Given the description of an element on the screen output the (x, y) to click on. 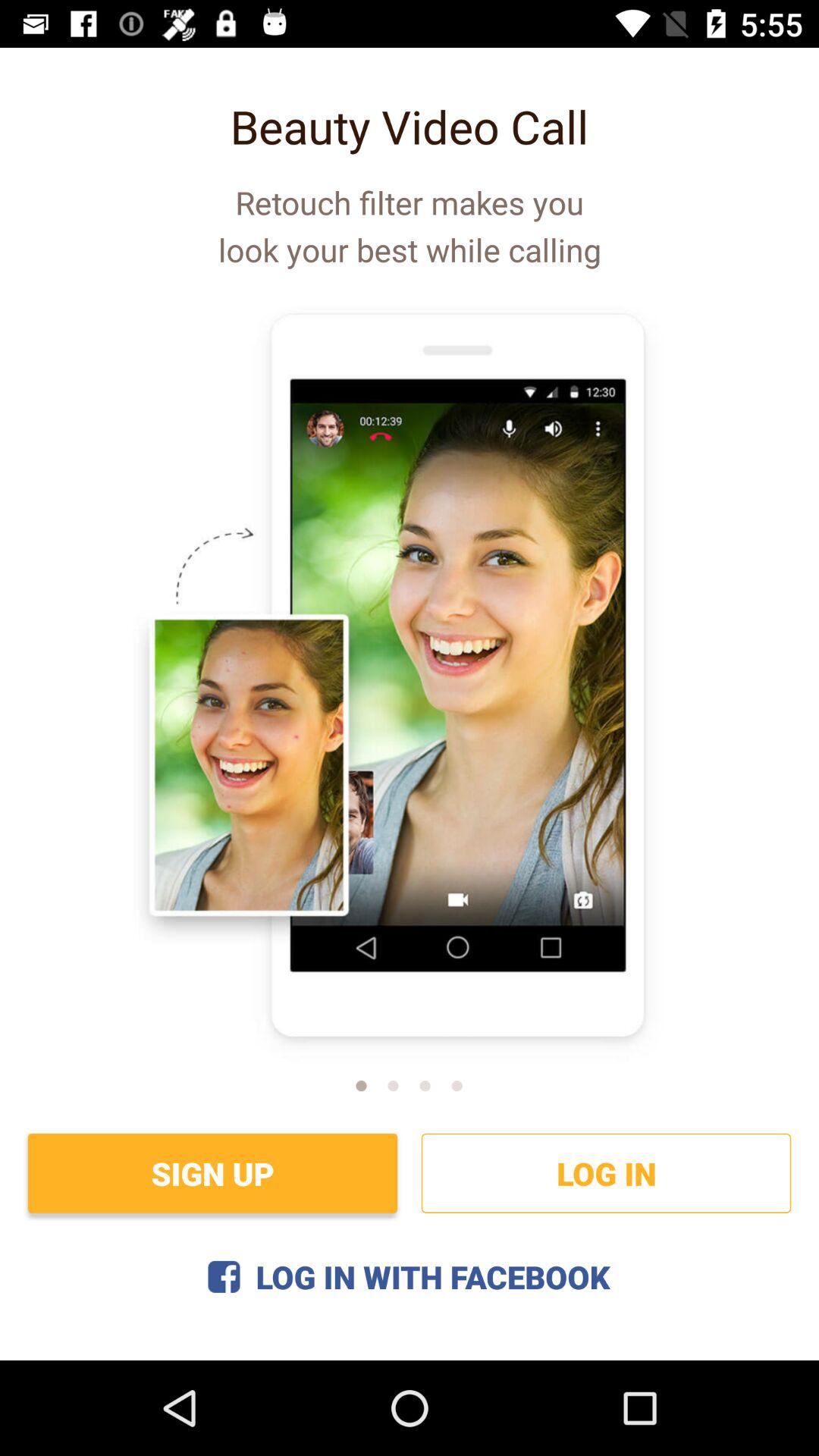
tap sign up at the bottom left corner (212, 1173)
